Given the description of an element on the screen output the (x, y) to click on. 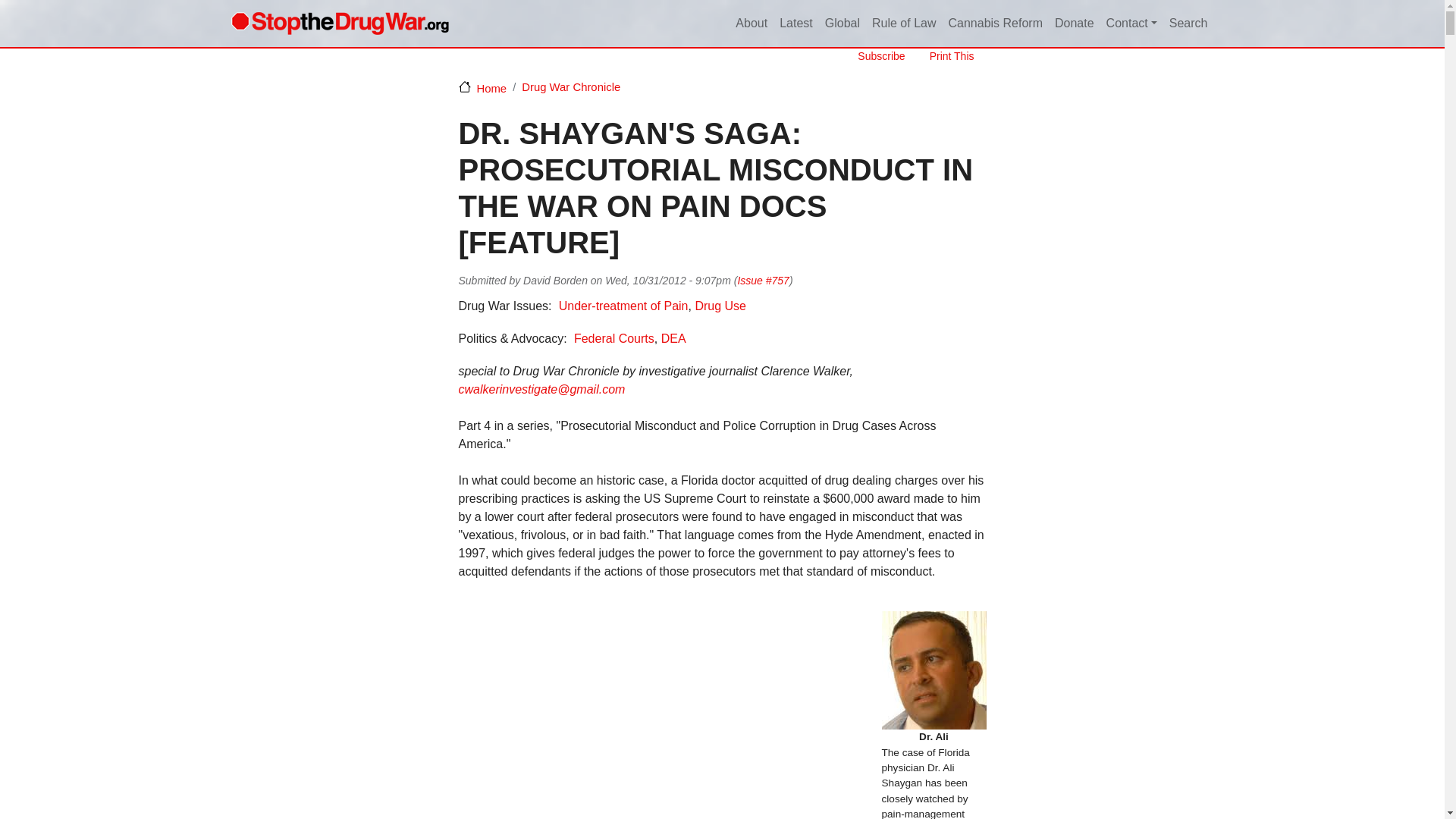
Share to Email (953, 280)
Latest (795, 23)
Please Support Our Work (1074, 23)
Contact (1131, 23)
Wednesday, October 31, 2012 - 9:07pm (667, 280)
Search (1188, 23)
Share to Reddit (932, 280)
About (751, 23)
Share to Facebook (890, 280)
Rule of Law (904, 23)
Global (842, 23)
Share to Linkedin (911, 280)
Subscribe (874, 55)
Cannabis Reform (995, 23)
Print This (945, 55)
